Given the description of an element on the screen output the (x, y) to click on. 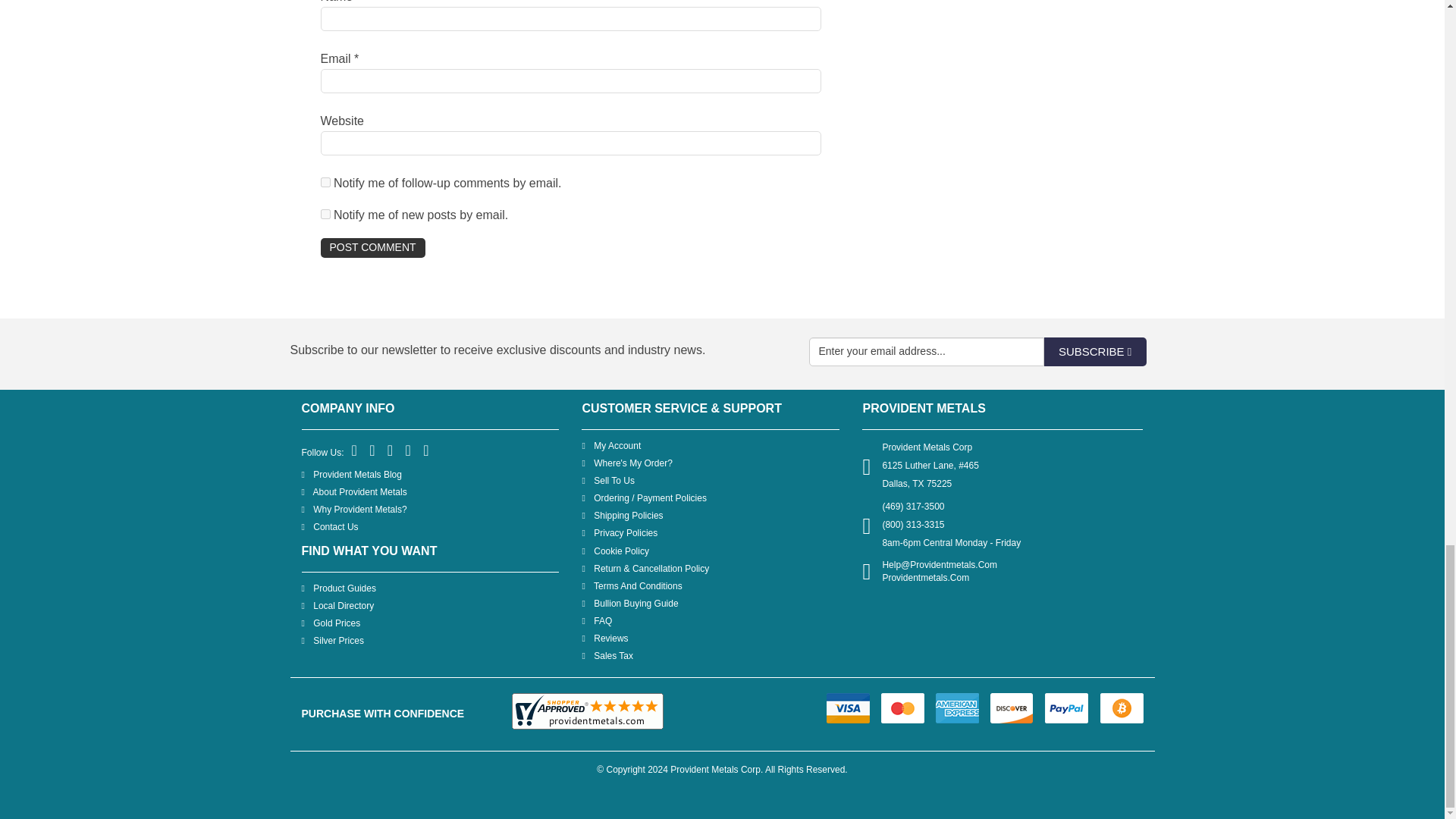
subscribe (325, 214)
subscribe (325, 182)
Instagram (426, 450)
Post Comment (372, 247)
Pinterest (391, 450)
You Tube (408, 450)
Twitter (372, 450)
Post Comment (372, 247)
Facebook (354, 450)
